Given the description of an element on the screen output the (x, y) to click on. 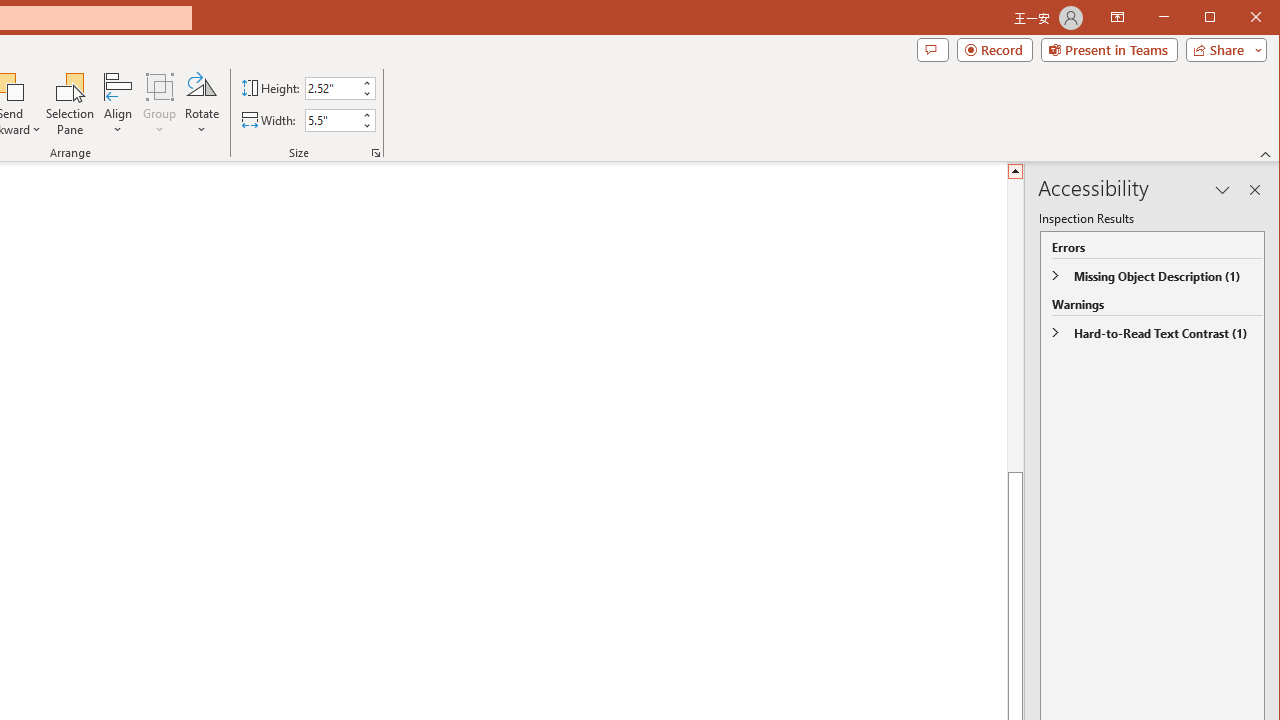
Rotate (201, 104)
